Given the description of an element on the screen output the (x, y) to click on. 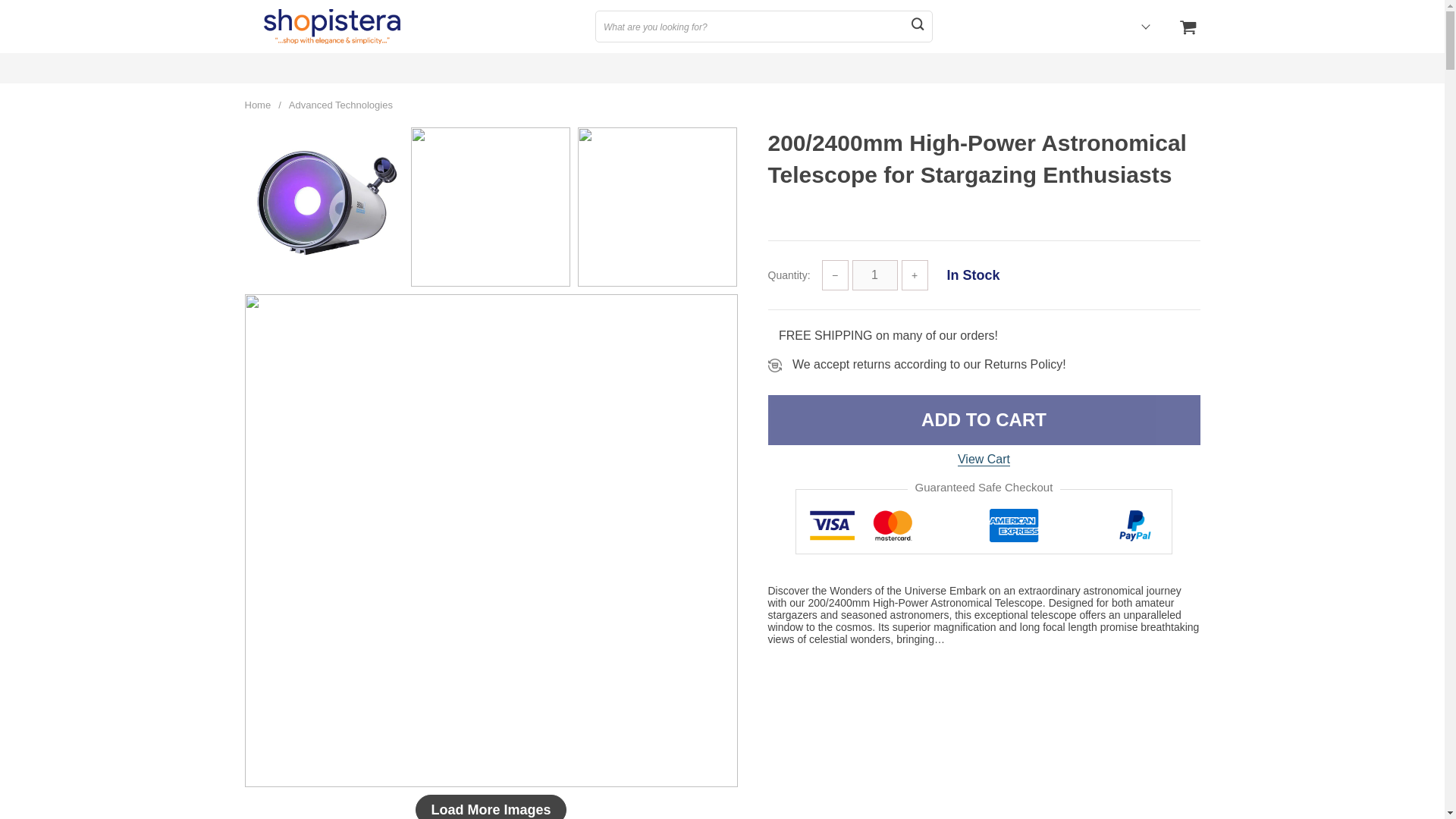
16881-3f3f1c.jpg (323, 206)
16881-6c0ee3.jpg (490, 206)
1 (874, 275)
Advanced Technologies (340, 104)
16881-23a428.jpg (657, 206)
ADD TO CART (983, 419)
Home (257, 105)
